Given the description of an element on the screen output the (x, y) to click on. 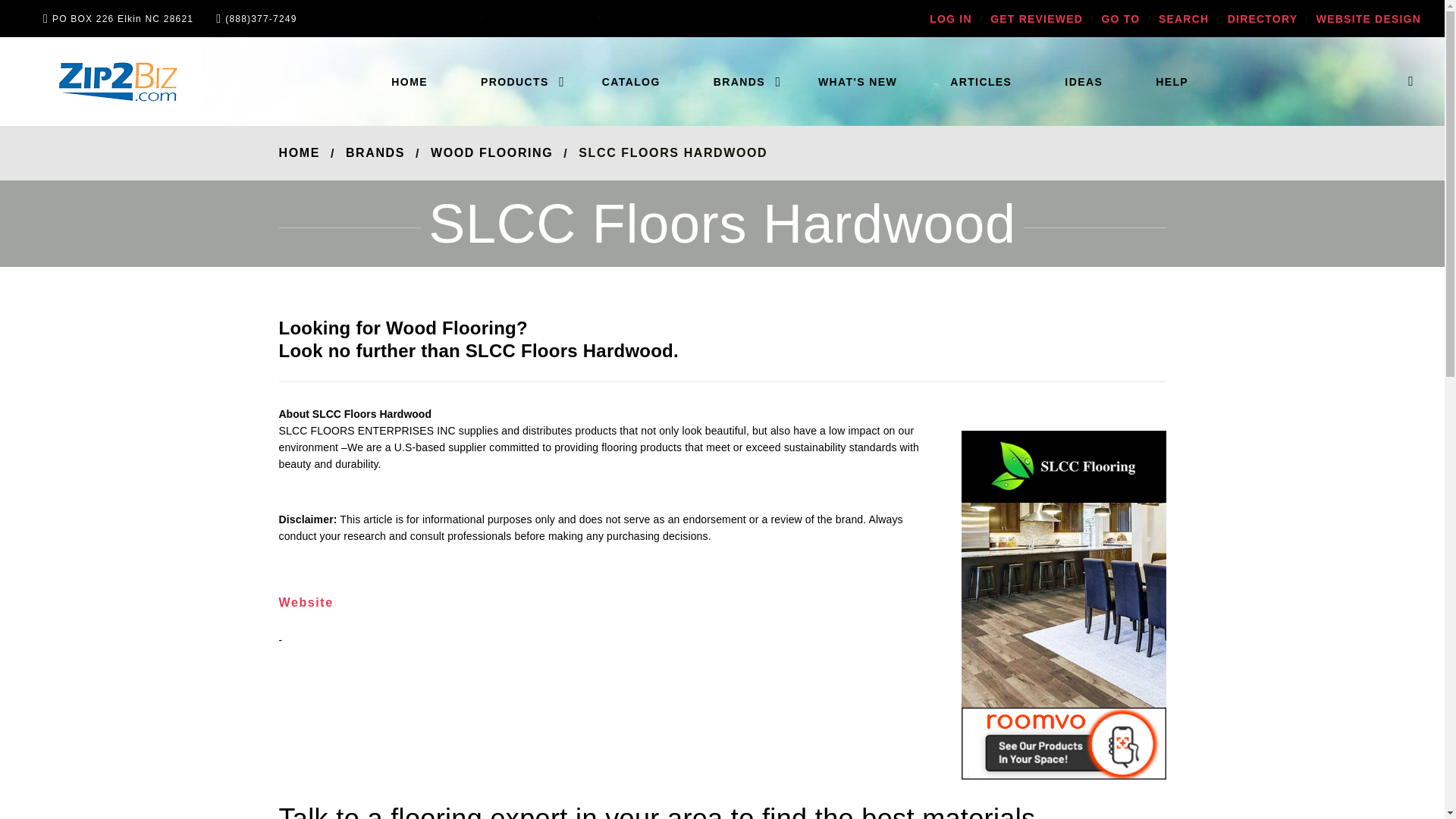
Search Zip2Biz.com (1183, 19)
Flooring store website (1368, 19)
Log in your store's administrator (950, 19)
GO TO (1121, 19)
Retail Flooring Directory (1262, 19)
HOME (409, 82)
BRANDS (739, 82)
DIRECTORY (1262, 19)
WEBSITE DESIGN (1368, 19)
PRODUCTS (514, 82)
SEARCH (1183, 19)
Get your flooring store reviewed (1036, 19)
Index of Flooring Products (514, 82)
LOG IN (950, 19)
Flooring Stores Near Me (409, 82)
